Given the description of an element on the screen output the (x, y) to click on. 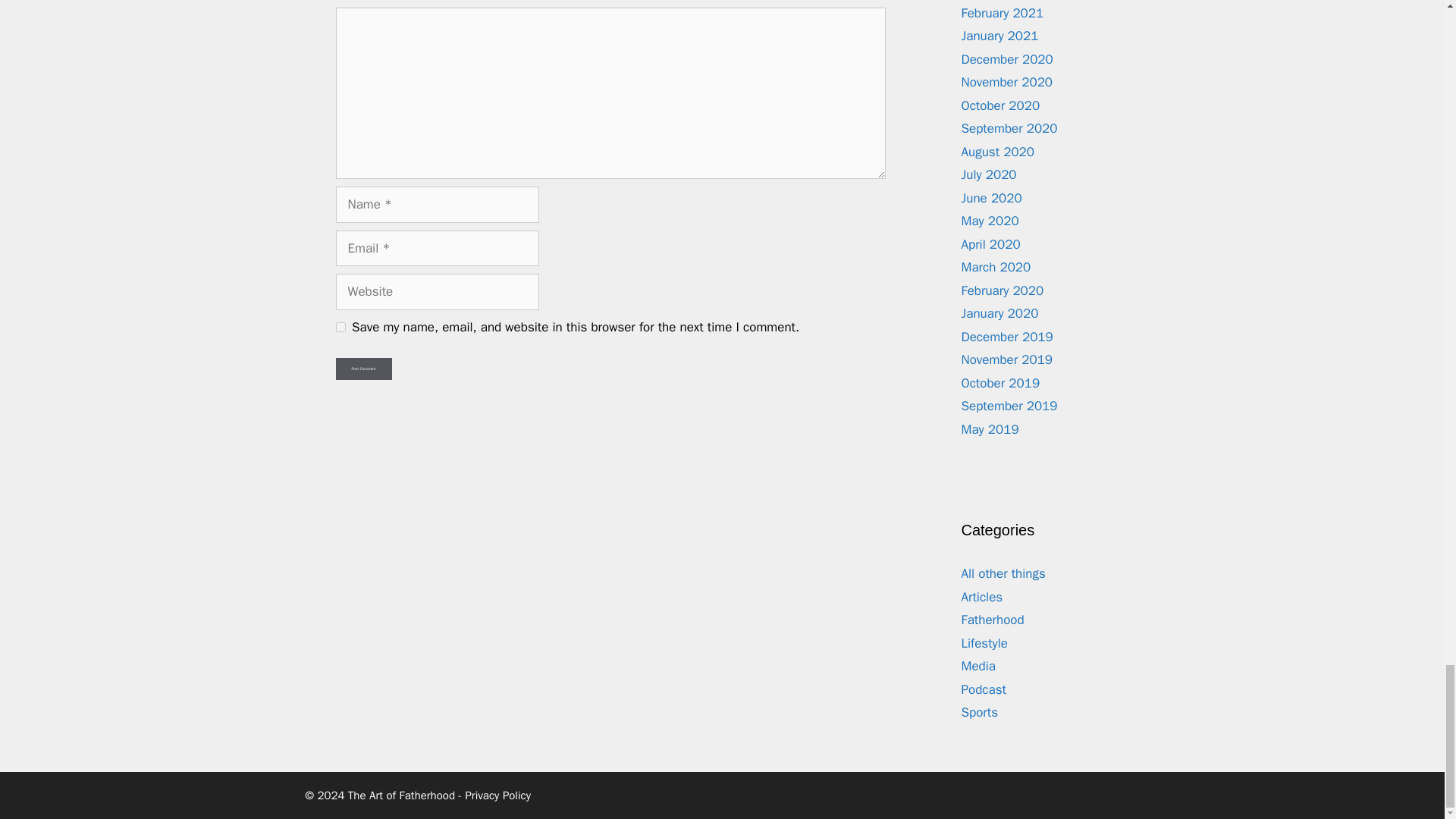
yes (339, 327)
Post Comment (362, 368)
